Given the description of an element on the screen output the (x, y) to click on. 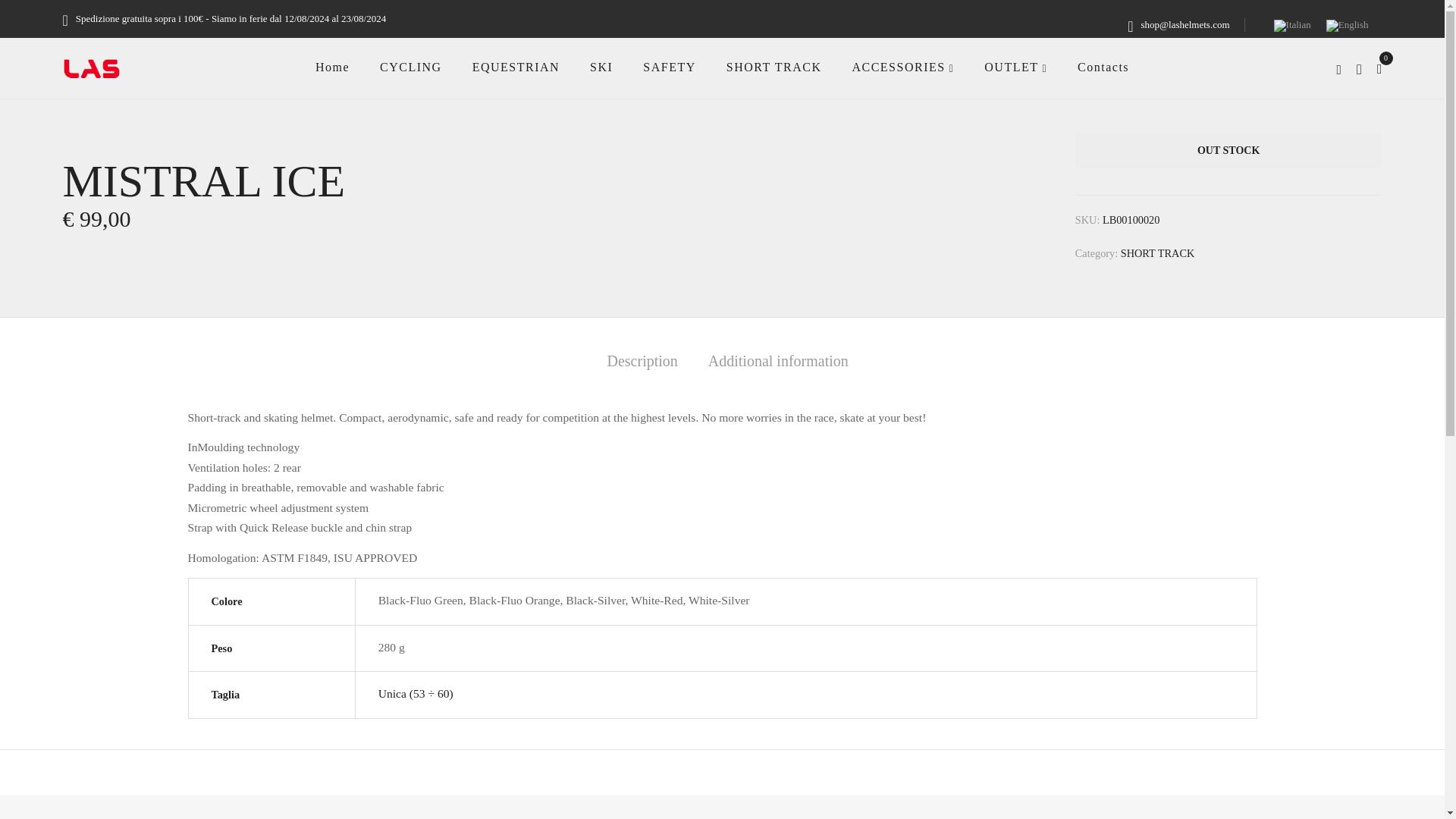
Home (332, 67)
EQUESTRIAN (515, 67)
SHORT TRACK (774, 67)
CYCLING (411, 67)
SAFETY (669, 67)
ACCESSORIES (902, 67)
OUTLET (1015, 67)
SKI (600, 67)
Contacts (1103, 67)
